Given the description of an element on the screen output the (x, y) to click on. 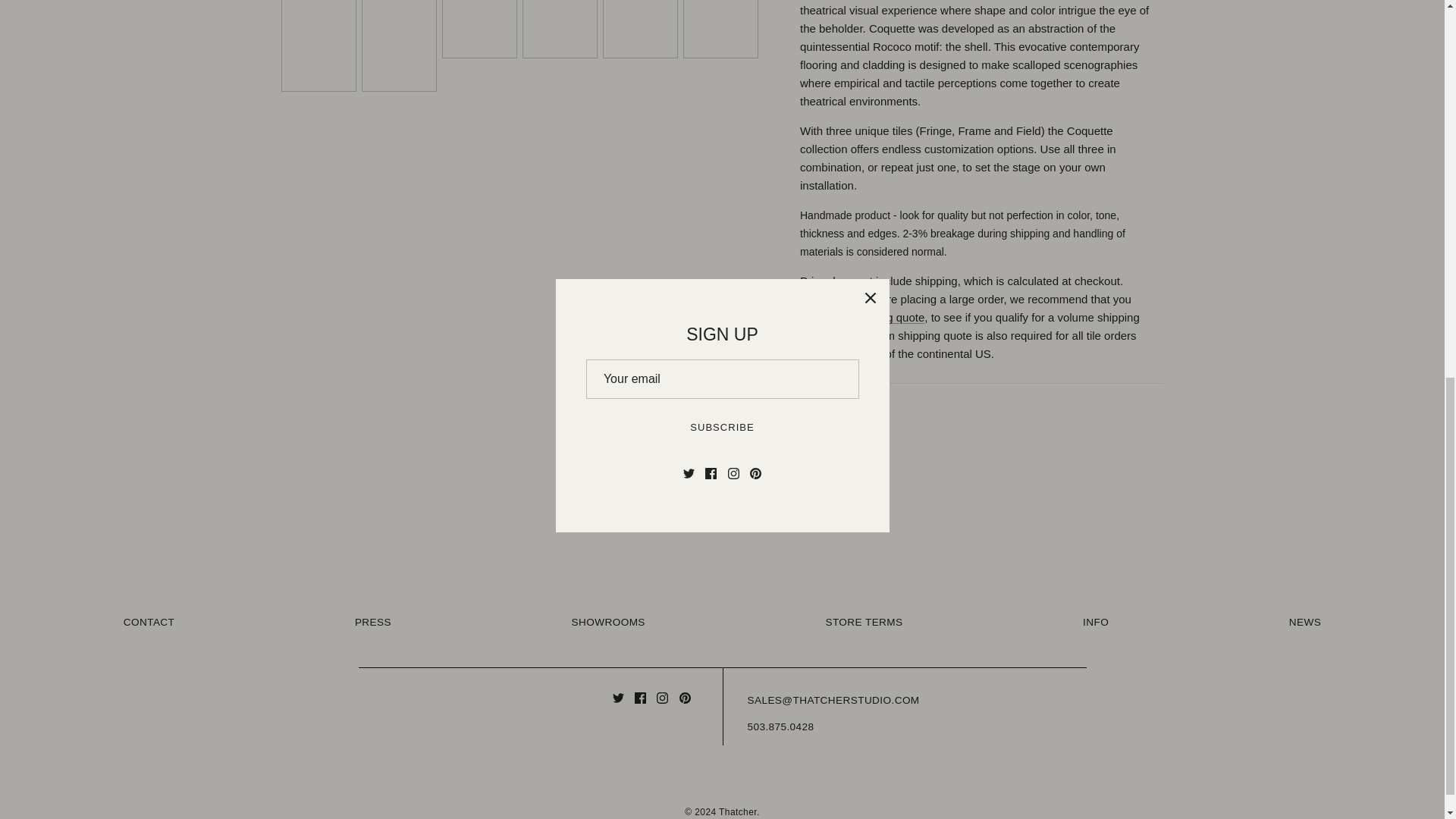
Instagram (662, 697)
Twitter (618, 697)
Pinterest (684, 697)
Facebook (640, 697)
